Given the description of an element on the screen output the (x, y) to click on. 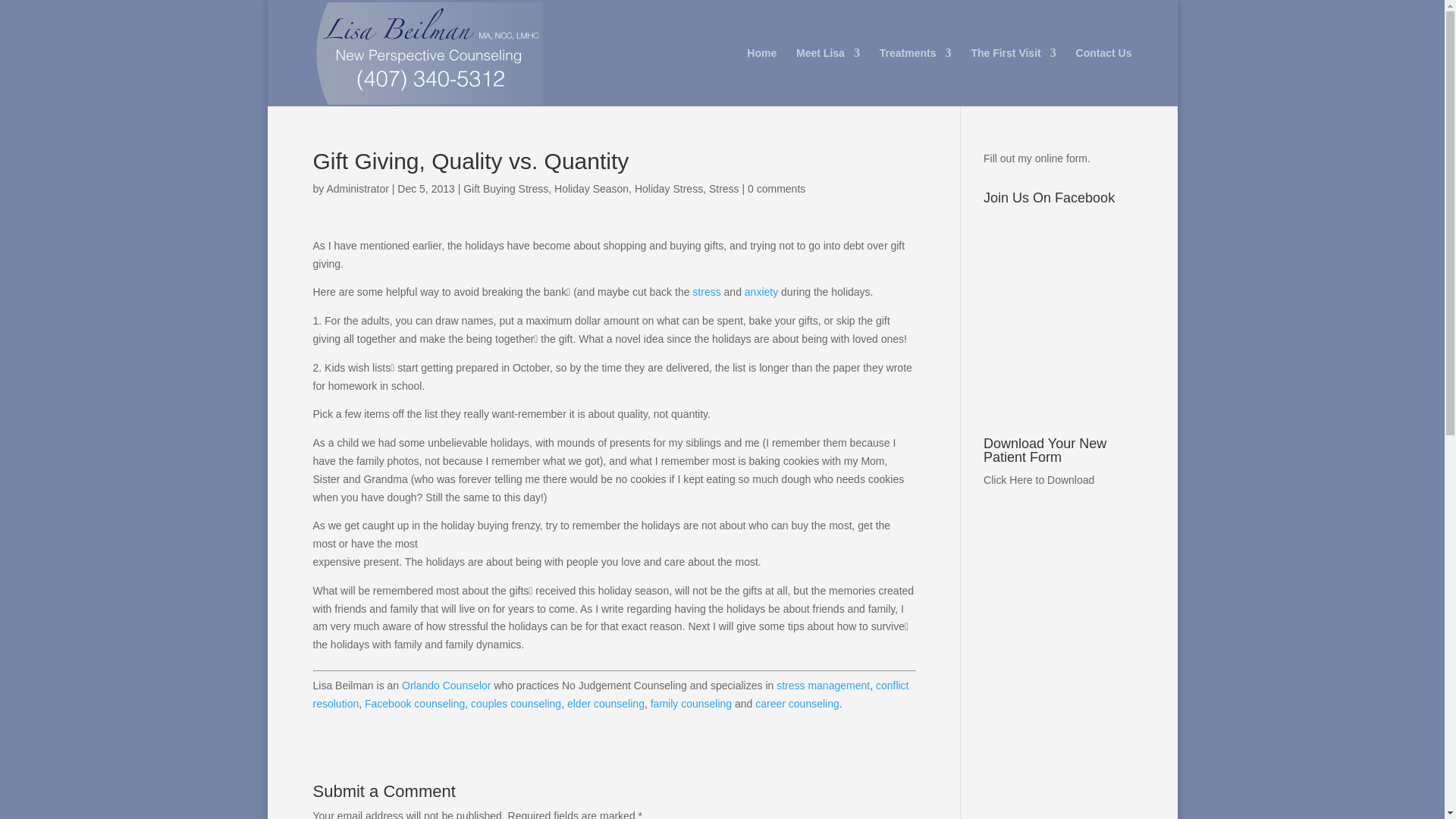
couples counseling (515, 703)
Gift Buying Stress (505, 188)
Meet Lisa (828, 76)
Stress (724, 188)
Holiday Stress (668, 188)
Holiday Season (591, 188)
Contact Us (1103, 76)
stress (706, 291)
The First Visit (1013, 76)
career counseling (797, 703)
